Given the description of an element on the screen output the (x, y) to click on. 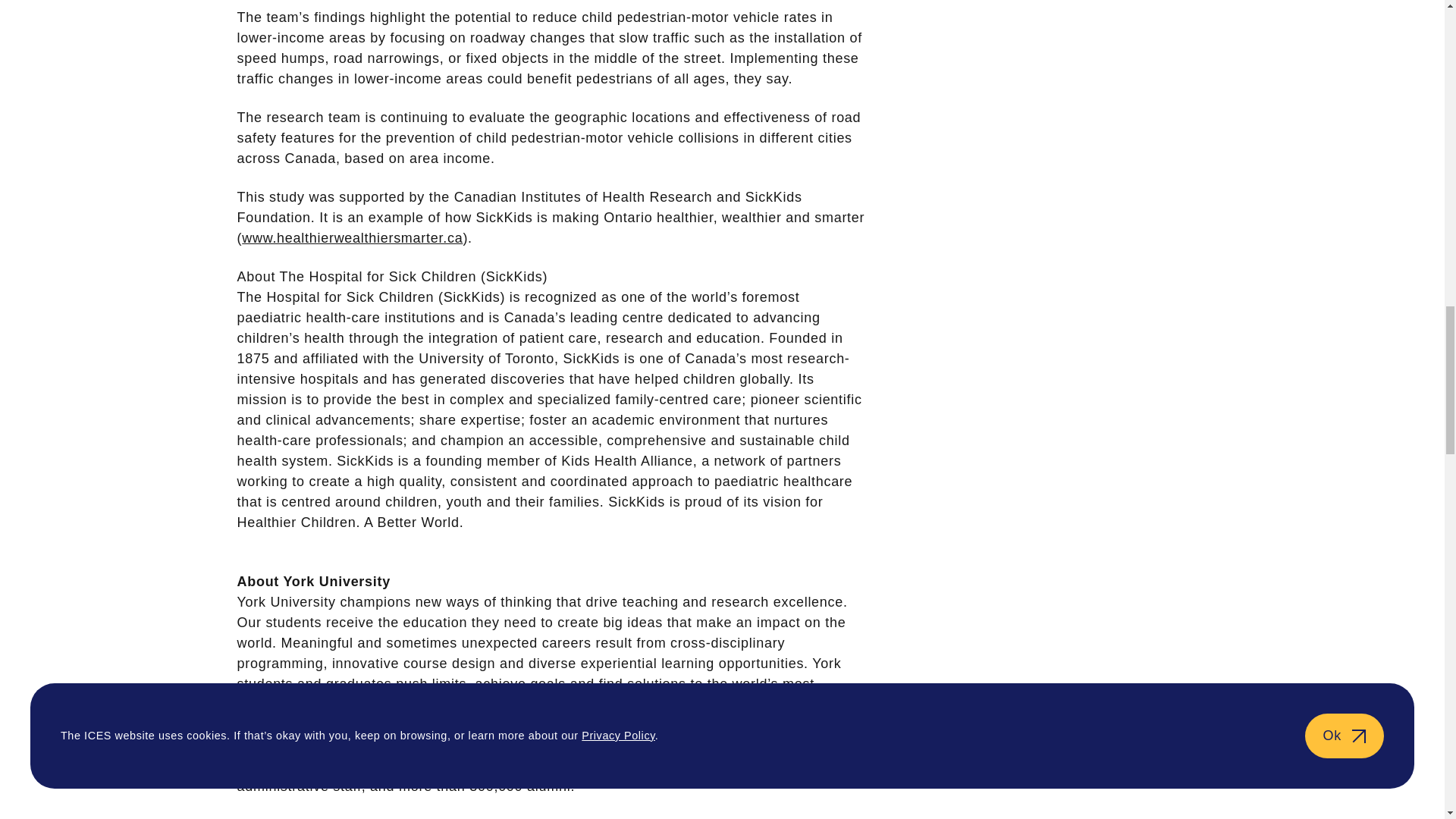
opens external link (352, 237)
